Given the description of an element on the screen output the (x, y) to click on. 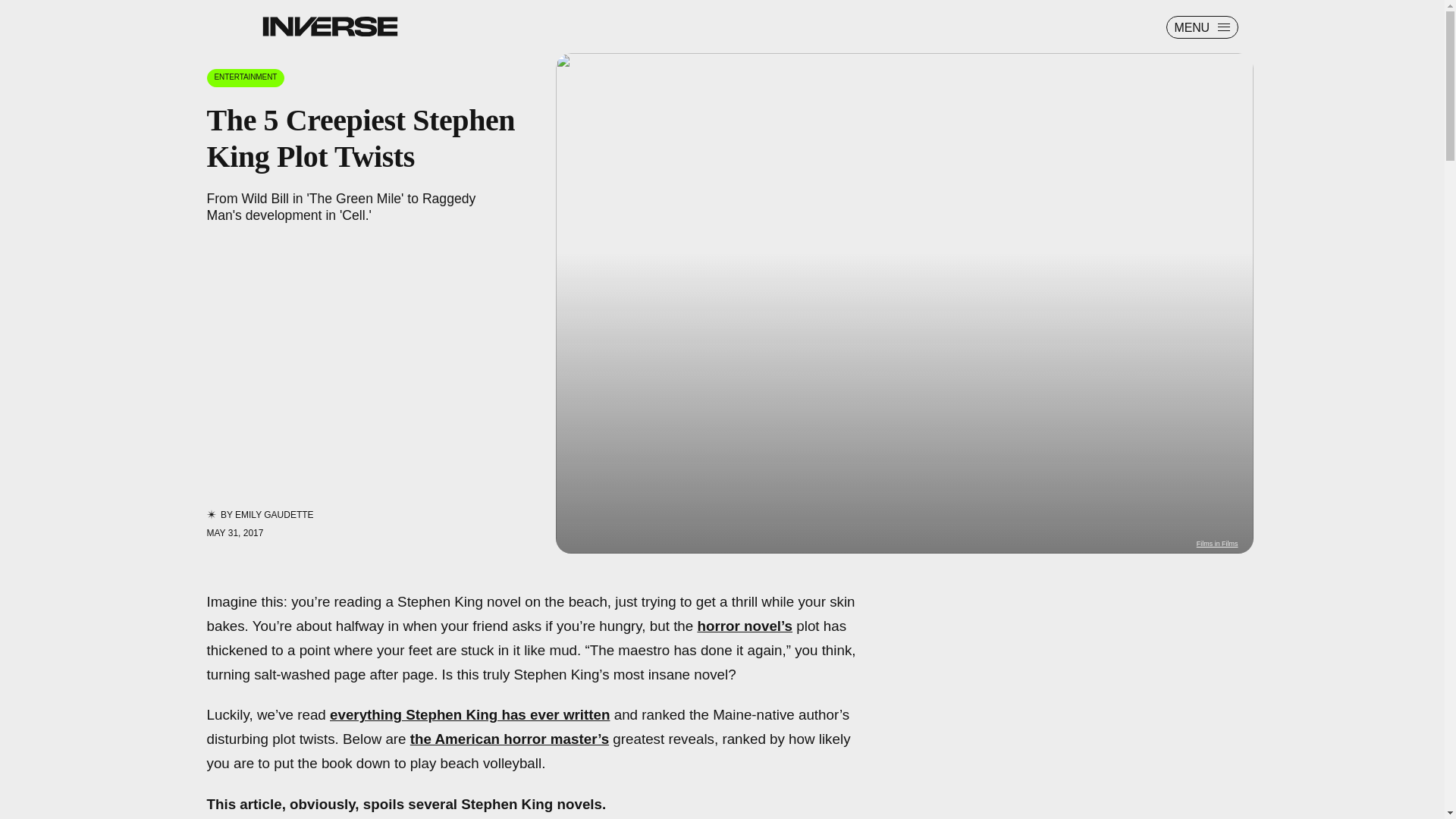
everything Stephen King has ever written (470, 714)
Films in Films (1217, 543)
EMILY GAUDETTE (274, 514)
Inverse (328, 26)
